Given the description of an element on the screen output the (x, y) to click on. 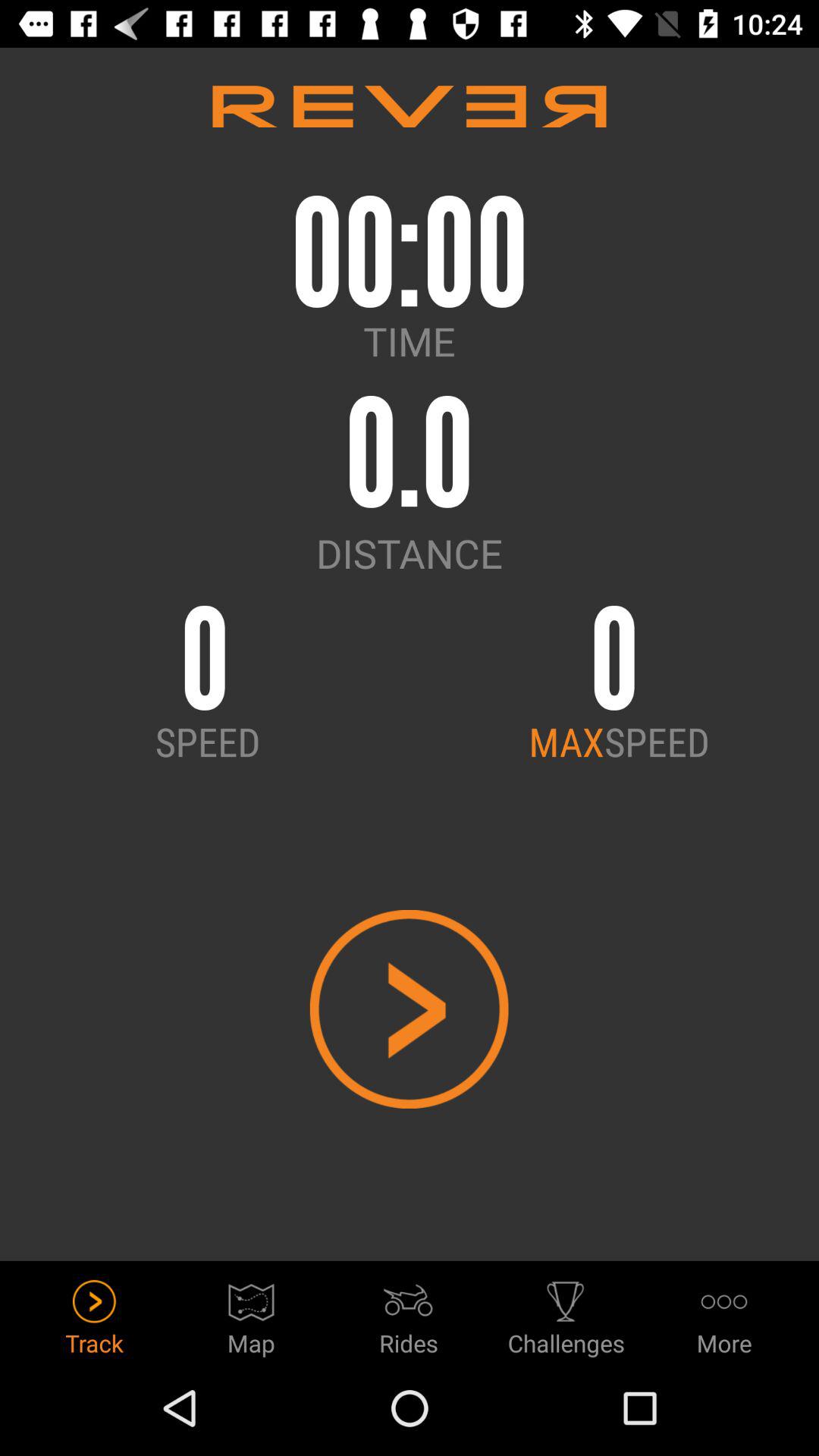
swipe until the max (566, 740)
